Given the description of an element on the screen output the (x, y) to click on. 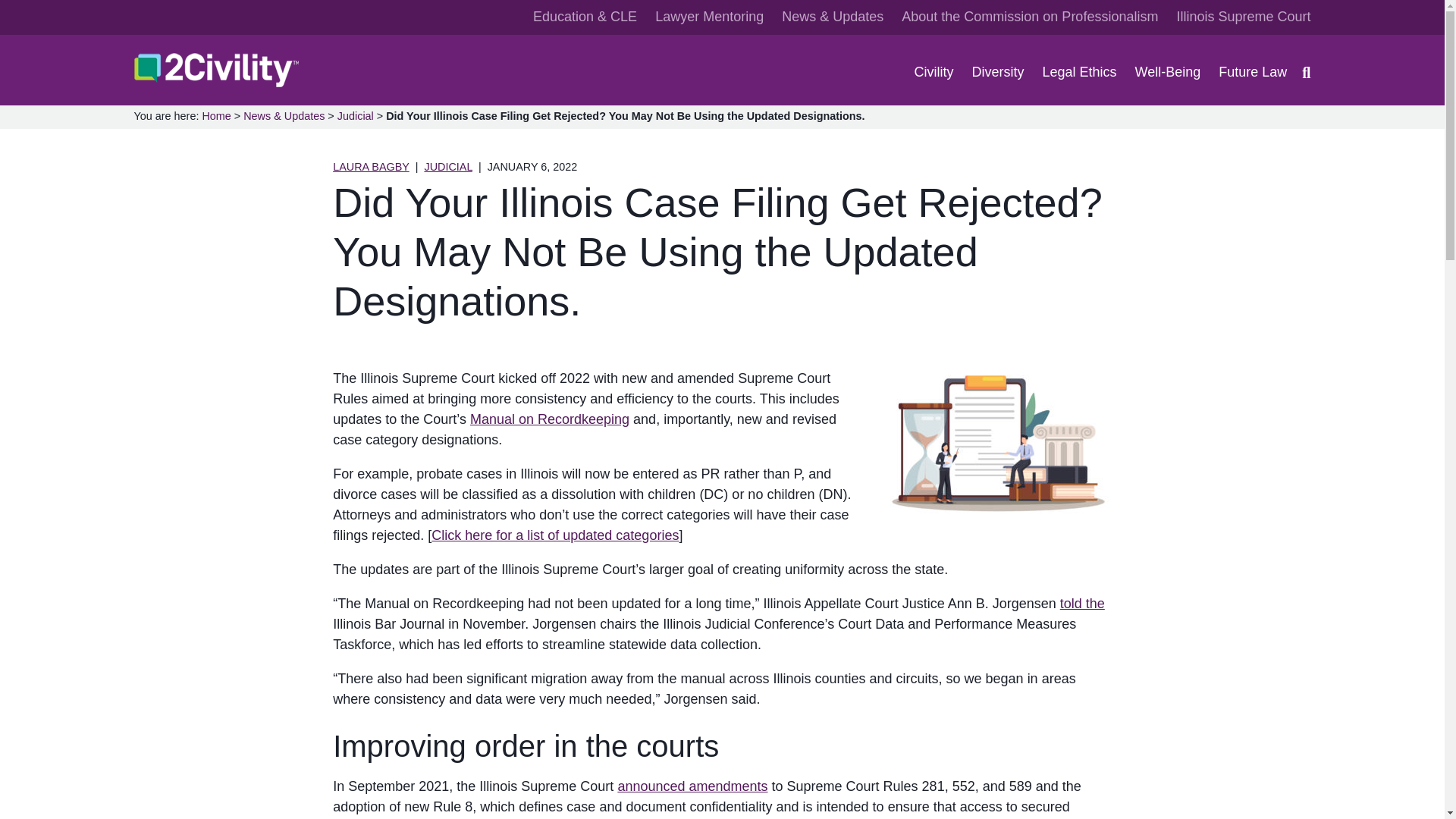
Future Law (1252, 72)
JUDICIAL (447, 166)
2Civility (156, 102)
Diversity (998, 72)
Posts by Laura Bagby (371, 166)
Civility (933, 72)
Home (216, 115)
Lawyer Mentoring (708, 17)
LAURA BAGBY (371, 166)
Click here for a list of updated categories (554, 534)
Illinois Supreme Court (1243, 17)
Legal Ethics (1079, 72)
Judicial (355, 115)
Manual on Recordkeeping (549, 418)
told the (1082, 603)
